Given the description of an element on the screen output the (x, y) to click on. 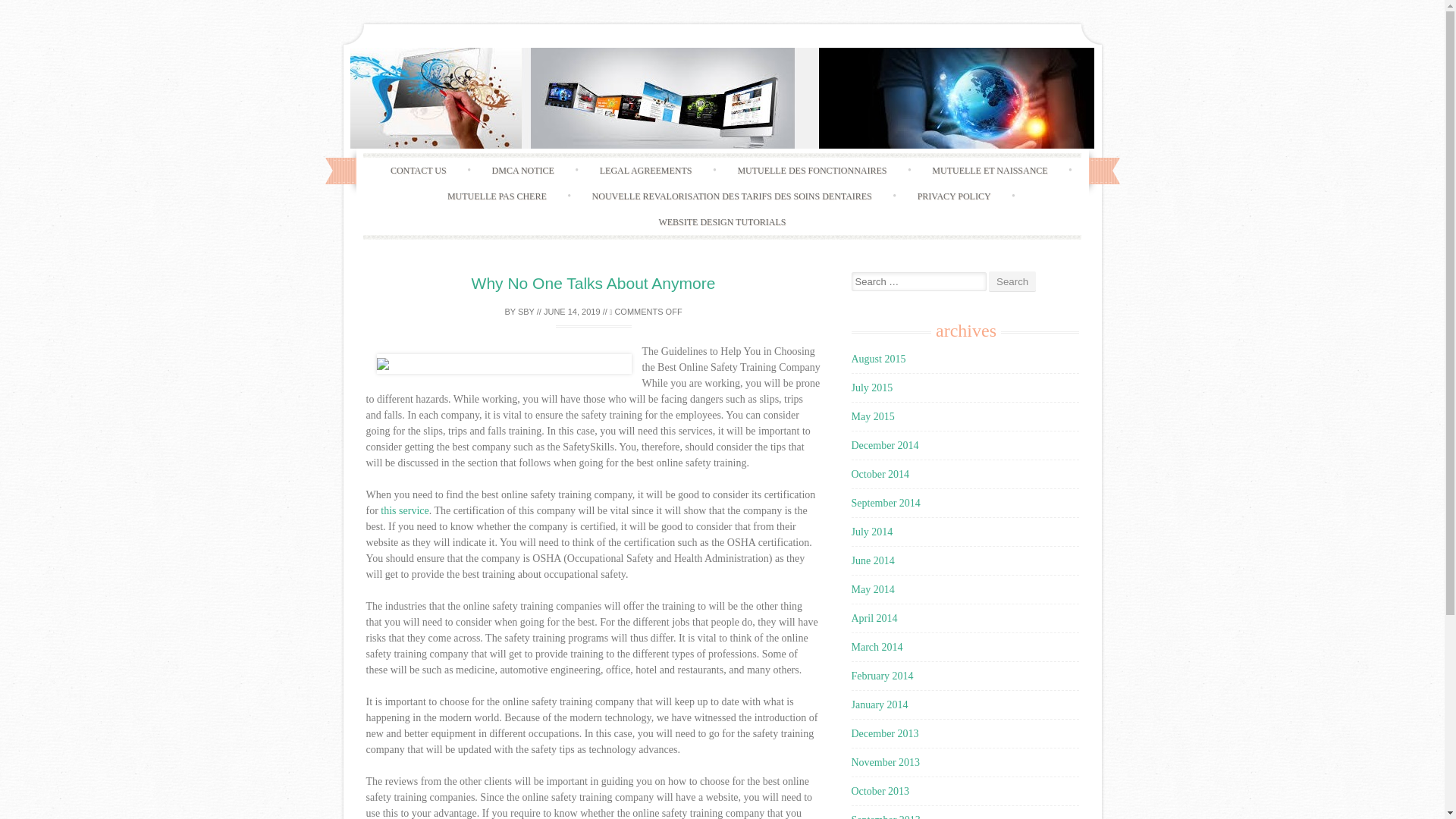
COMMENTS OFF (646, 310)
this service (404, 510)
October 2013 (879, 790)
MUTUELLE PAS CHERE (496, 196)
CONTACT US (418, 170)
10:49 am (571, 310)
April 2014 (873, 618)
DMCA NOTICE (523, 170)
May 2014 (871, 589)
January 2014 (878, 704)
February 2014 (881, 675)
March 2014 (876, 646)
WEBSITE DESIGN TUTORIALS (721, 222)
Search (1011, 281)
